Given the description of an element on the screen output the (x, y) to click on. 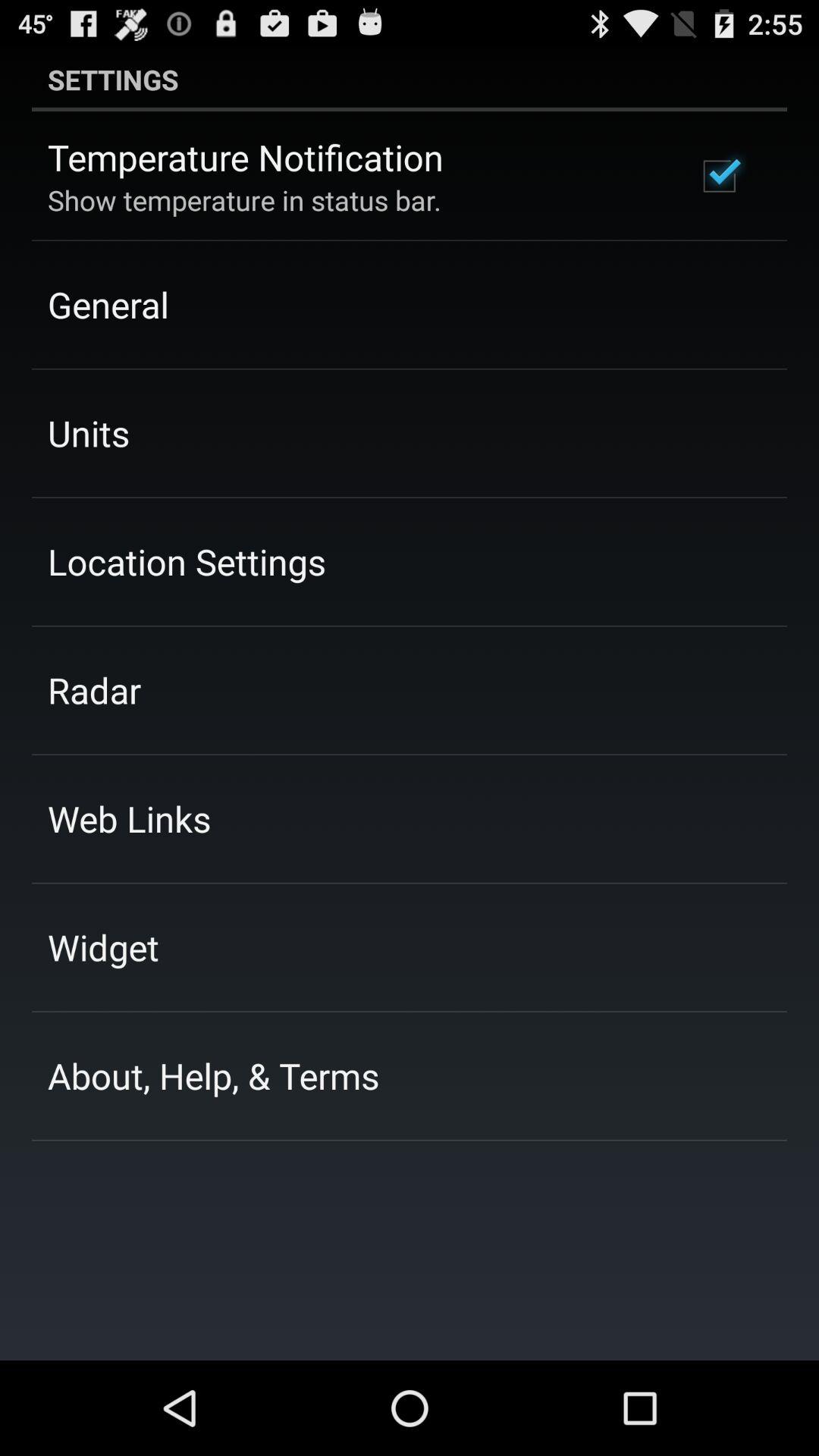
turn off app below the show temperature in icon (107, 304)
